Given the description of an element on the screen output the (x, y) to click on. 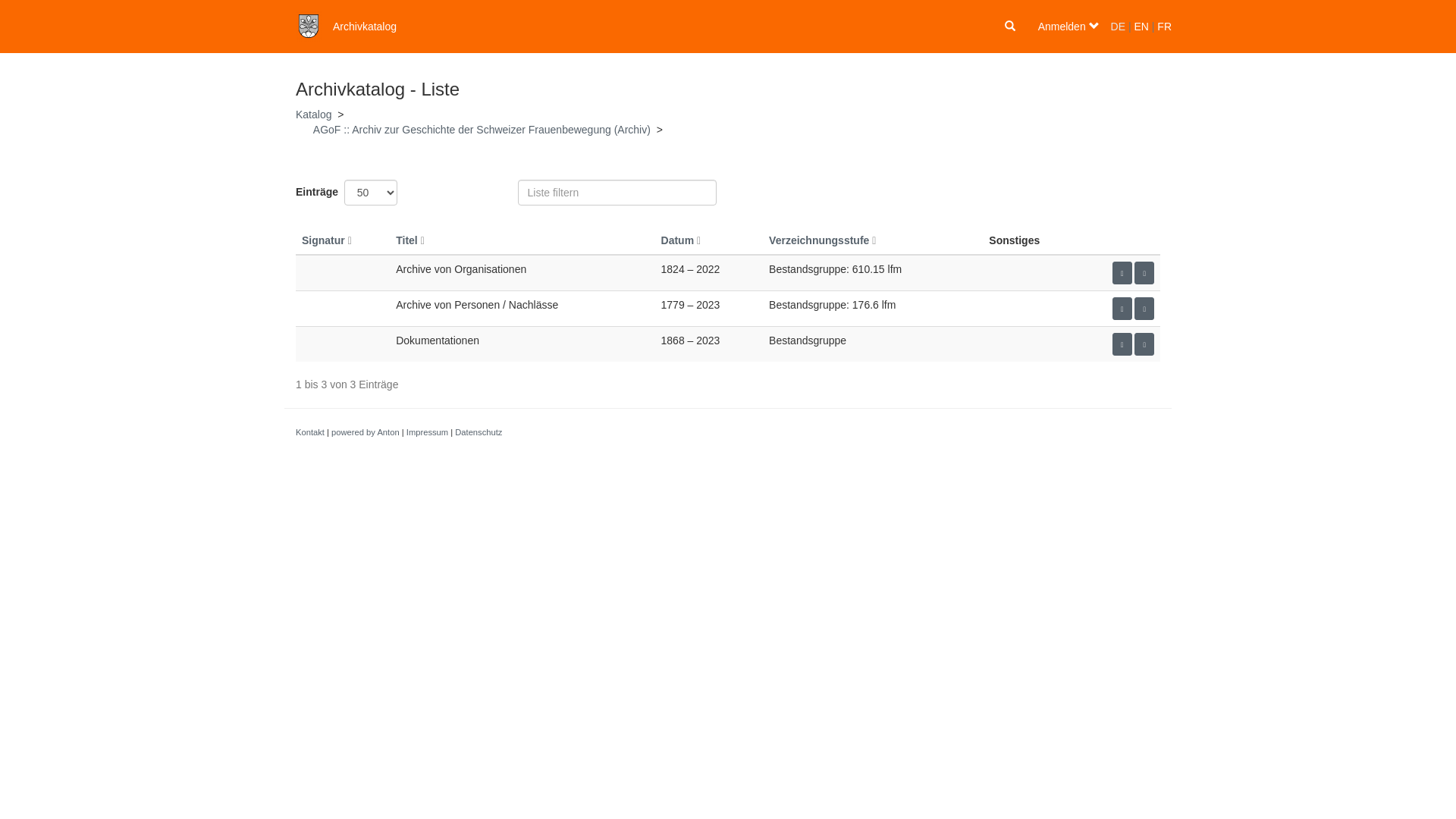
FR Element type: text (1164, 26)
Inhalt Element type: hover (1122, 272)
Datenschutz Element type: text (478, 431)
Kontakt Element type: text (309, 431)
Inhalt Element type: hover (1122, 308)
Archivkatalog Element type: text (364, 26)
EN Element type: text (1140, 26)
Detail Element type: hover (1144, 272)
DE Element type: text (1117, 26)
Detail Element type: hover (1144, 308)
Anmelden Element type: text (1068, 26)
Datum Element type: text (681, 240)
Katalog Element type: text (313, 114)
Detail Element type: hover (1144, 343)
Titel Element type: text (409, 240)
Impressum Element type: text (427, 431)
Verzeichnungsstufe Element type: text (821, 240)
Inhalt Element type: hover (1122, 343)
powered by Anton Element type: text (365, 431)
Signatur Element type: text (326, 240)
